Given the description of an element on the screen output the (x, y) to click on. 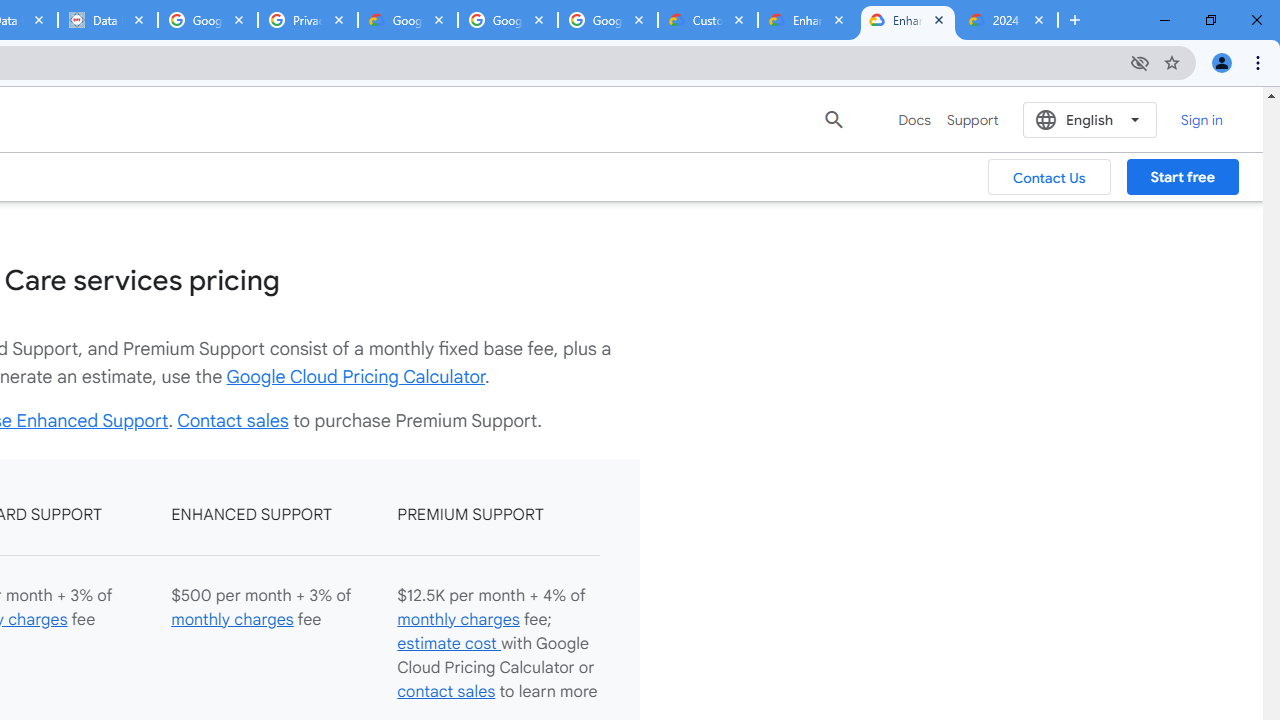
Media CDN (465, 117)
Docs (914, 119)
Data Privacy Framework (107, 20)
Google Workspace - Specific Terms (607, 20)
Google Workspace - Specific Terms (508, 20)
Assured Support (485, 76)
